Given the description of an element on the screen output the (x, y) to click on. 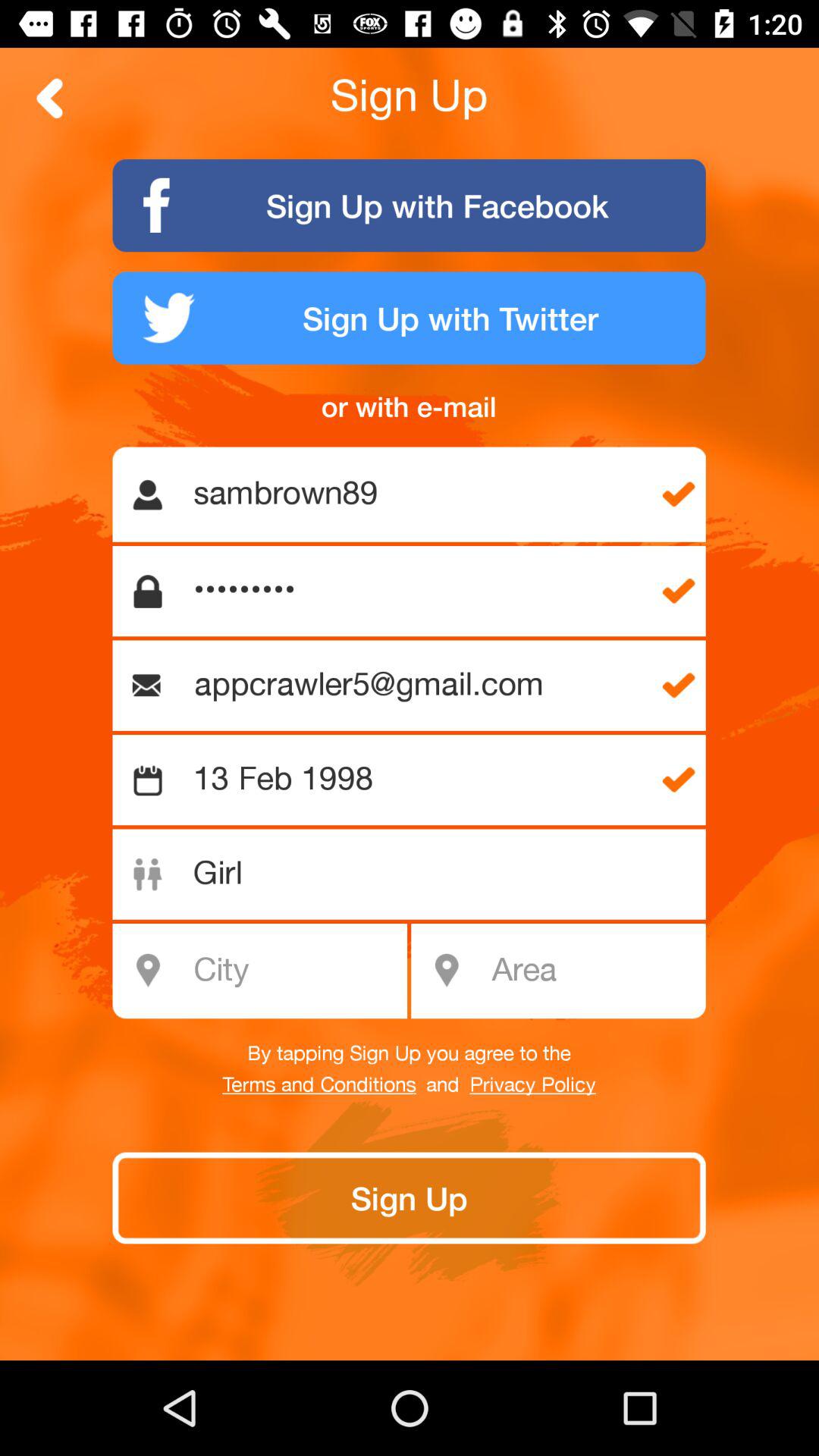
turn off the item above by tapping sign (593, 970)
